Given the description of an element on the screen output the (x, y) to click on. 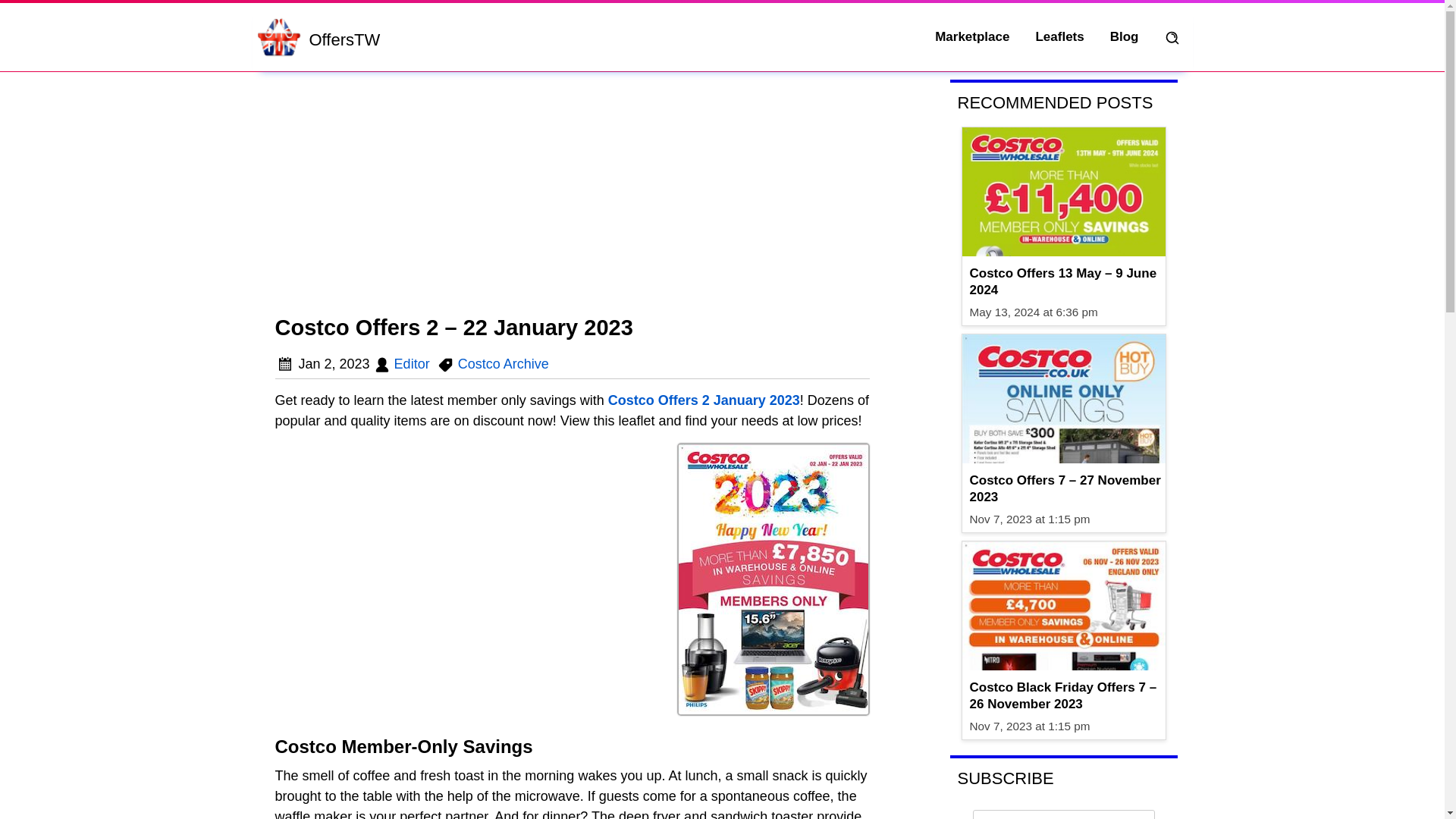
Leaflets (1059, 36)
Costco Offers 2 January 2023 (703, 400)
OffersTW (278, 36)
Editor (411, 363)
OffersTW (344, 40)
Costco Archive (503, 363)
Marketplace (971, 36)
OffersTW (344, 40)
Advertisement (572, 194)
